Given the description of an element on the screen output the (x, y) to click on. 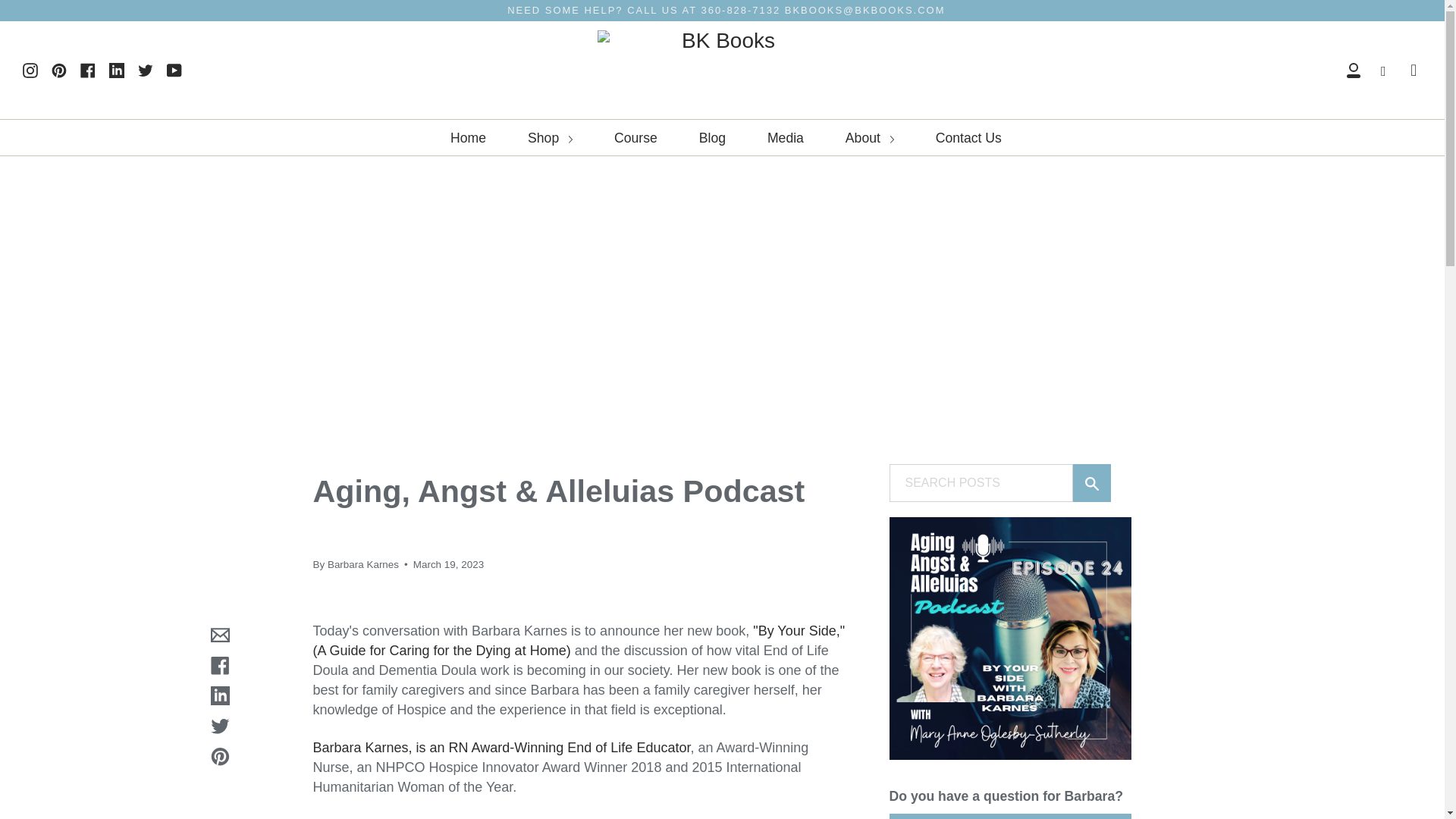
BK Books  on LinkedIn (116, 69)
LinkedIn (116, 69)
Pinterest (58, 69)
Media (785, 137)
BK Books  on Instagram (30, 69)
BK Books  on Facebook (88, 69)
BK Books  on Twitter (145, 69)
Course (635, 137)
Facebook (88, 69)
Twitter (145, 69)
